Given the description of an element on the screen output the (x, y) to click on. 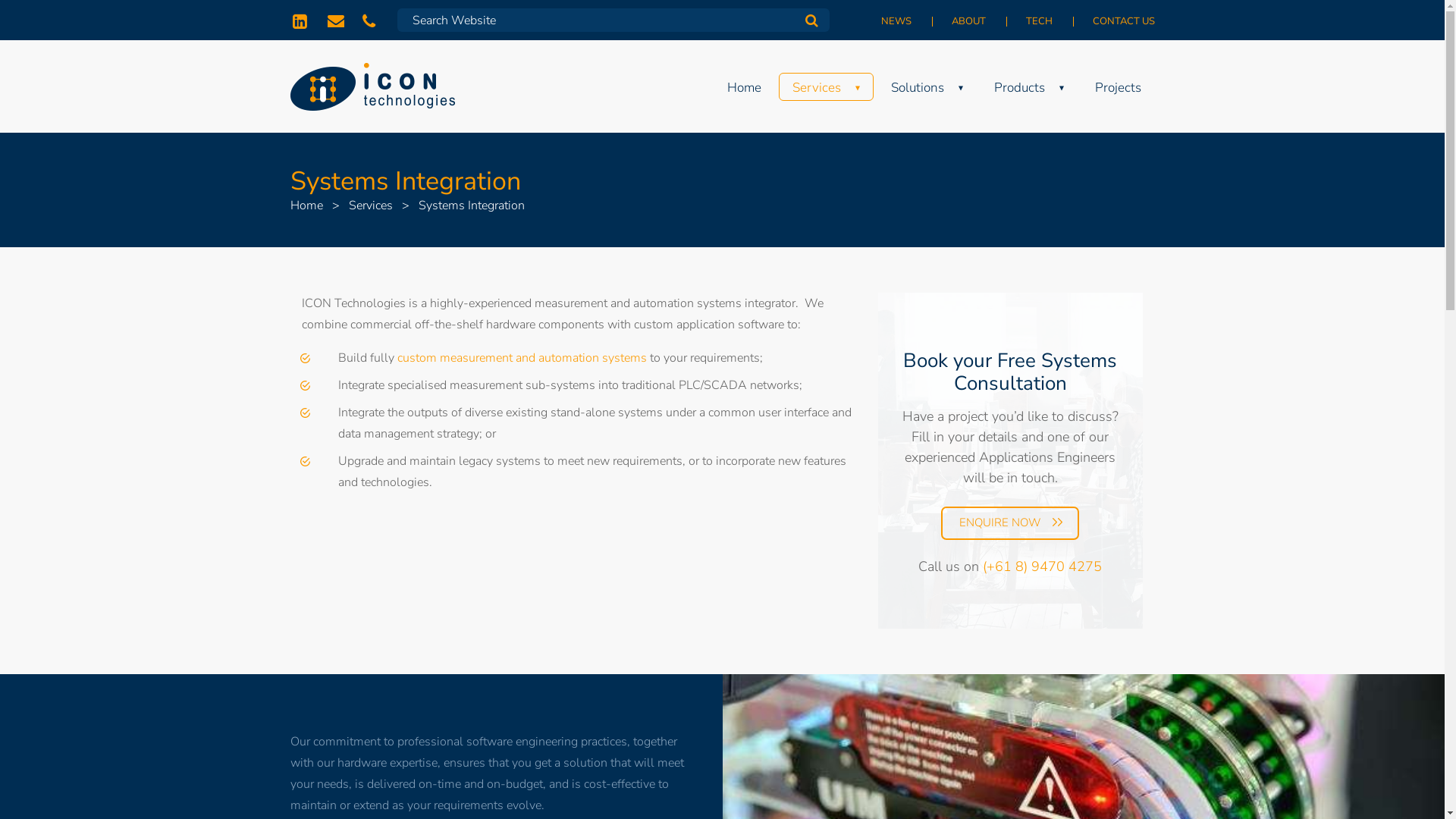
(+61 8) 9470 4275 Element type: text (370, 19)
Services Element type: text (370, 205)
Search for: Element type: hover (613, 19)
TECH Element type: text (1040, 21)
Services Element type: text (825, 86)
Solutions Element type: text (925, 86)
NEWS Element type: text (896, 21)
Home Element type: text (305, 205)
Products Element type: text (1027, 86)
CONTACT US Element type: text (1113, 21)
Home Element type: text (743, 86)
Projects Element type: text (1117, 86)
icon@icon-tech.com.au Element type: text (335, 19)
ENQUIRE NOW Element type: text (1010, 522)
(+61 8) 9470 4275 Element type: text (1041, 566)
ABOUT Element type: text (969, 21)
custom measurement and automation systems Element type: text (521, 357)
